Given the description of an element on the screen output the (x, y) to click on. 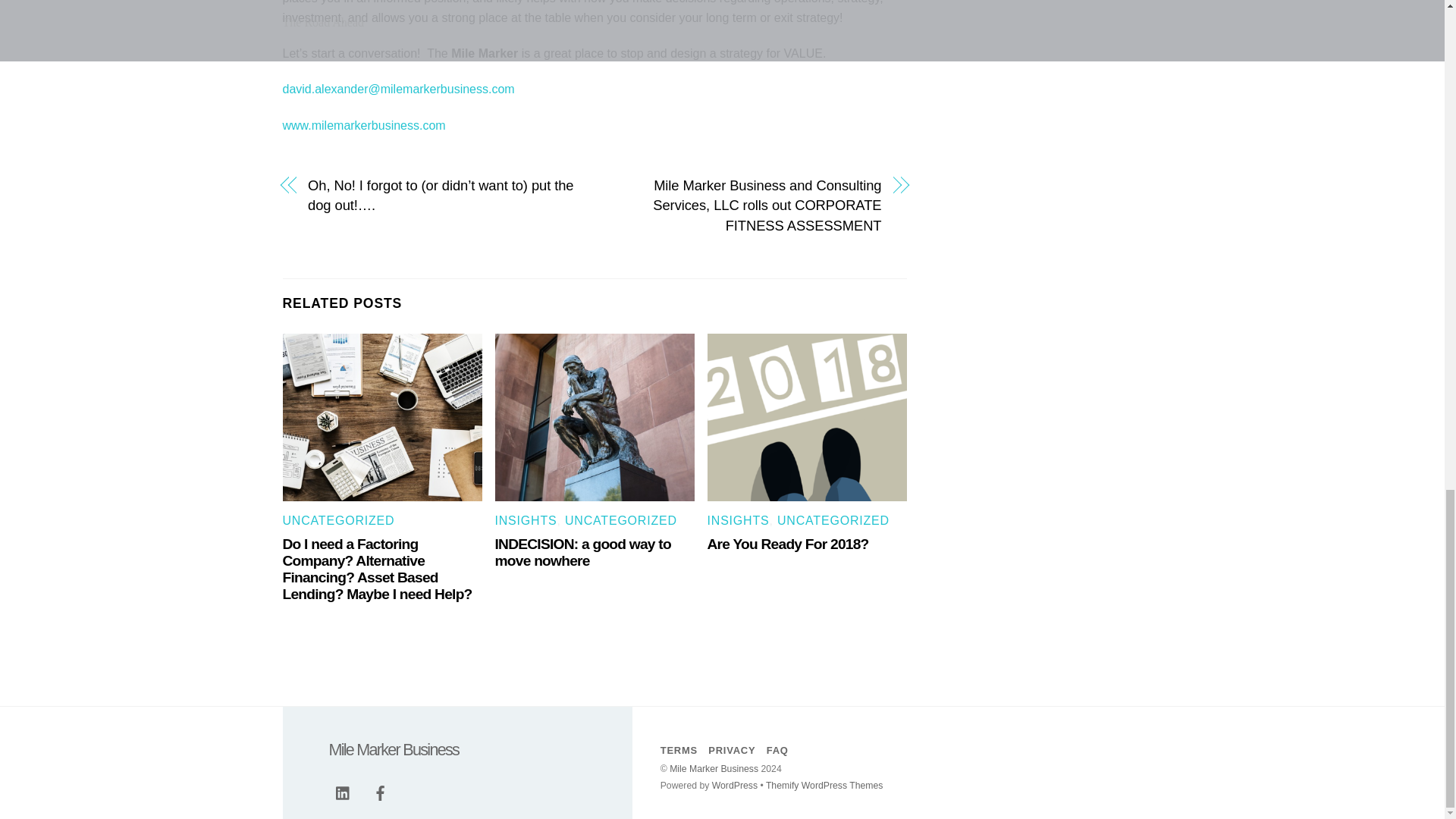
Mile Marker Business (393, 749)
www.milemarkerbusiness.com (363, 124)
INSIGHTS (738, 520)
UNCATEGORIZED (338, 520)
UNCATEGORIZED (620, 520)
messy finance (381, 417)
Are You Ready For 2018? (788, 544)
INSIGHTS (526, 520)
